Given the description of an element on the screen output the (x, y) to click on. 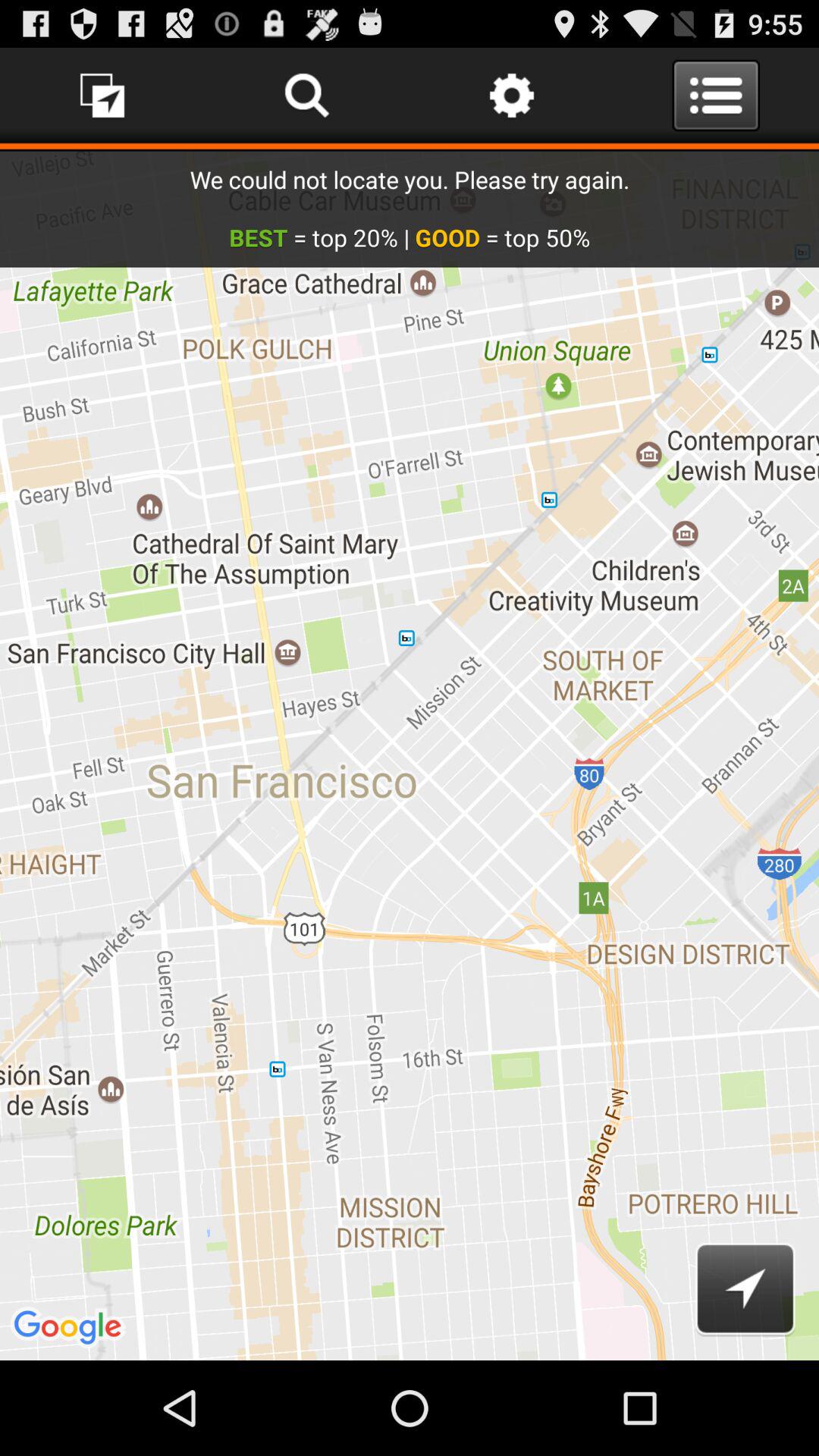
press icon at the center (409, 755)
